Given the description of an element on the screen output the (x, y) to click on. 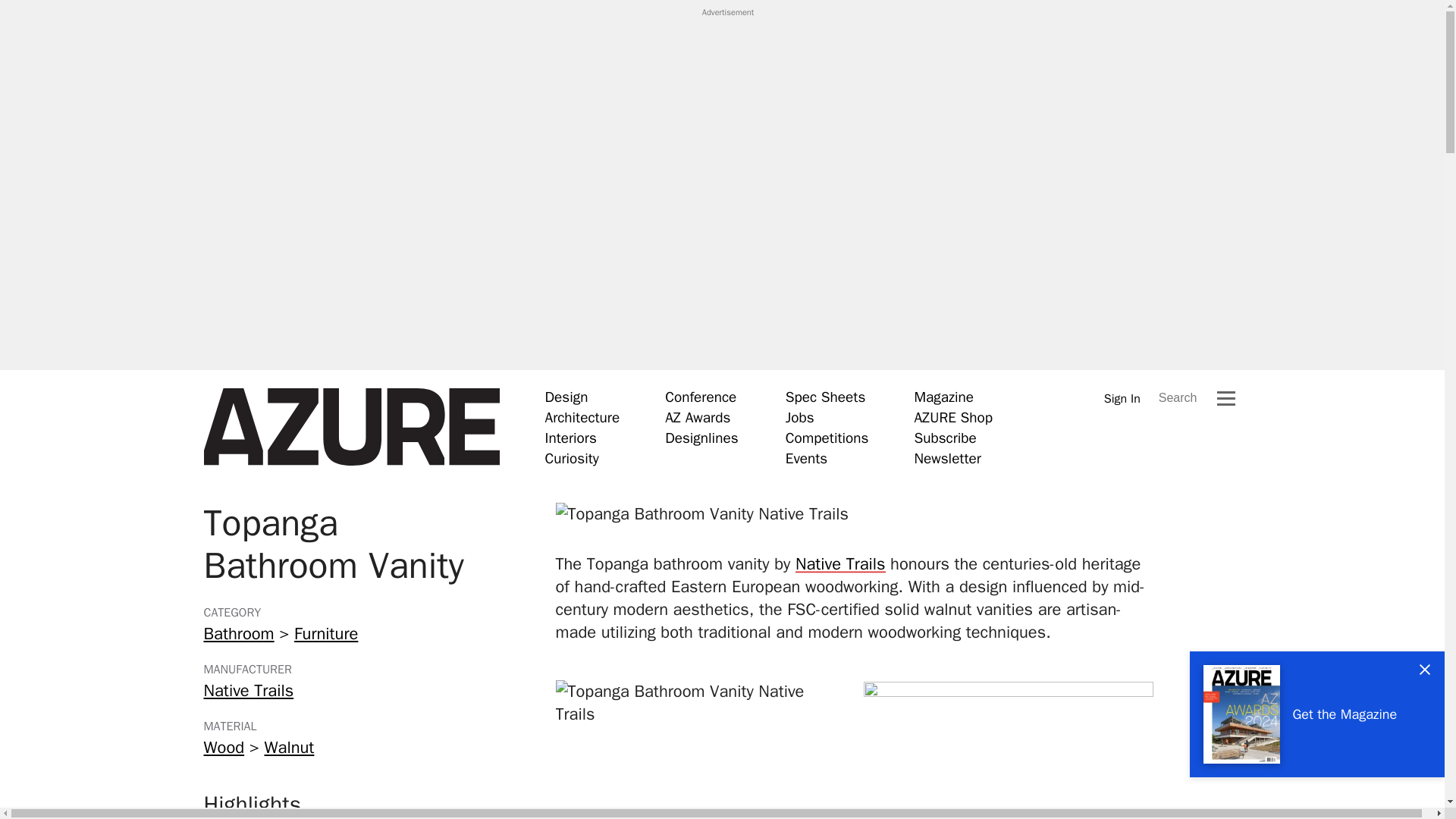
Competitions (827, 438)
AZ Awards (697, 417)
Designlines (701, 438)
Newsletter (946, 458)
Spec Sheets (825, 397)
AZURE Shop (953, 417)
Interiors (569, 438)
Jobs (799, 417)
Subscribe (944, 438)
Events (806, 458)
